Given the description of an element on the screen output the (x, y) to click on. 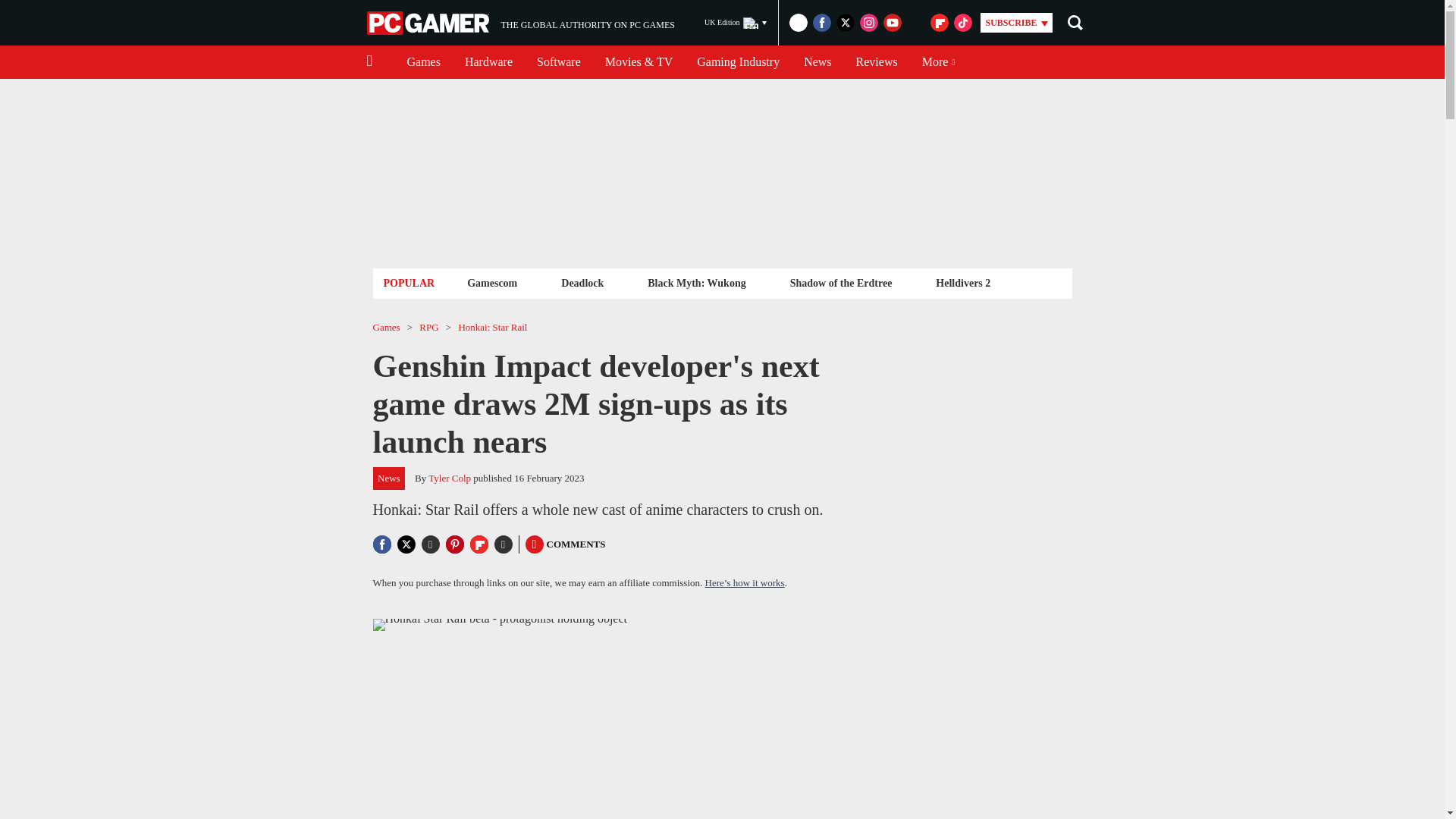
UK Edition (735, 22)
Deadlock (582, 282)
Games (422, 61)
Software (558, 61)
Gamescom (520, 22)
PC Gamer (491, 282)
News (429, 22)
Hardware (817, 61)
Reviews (488, 61)
